Given the description of an element on the screen output the (x, y) to click on. 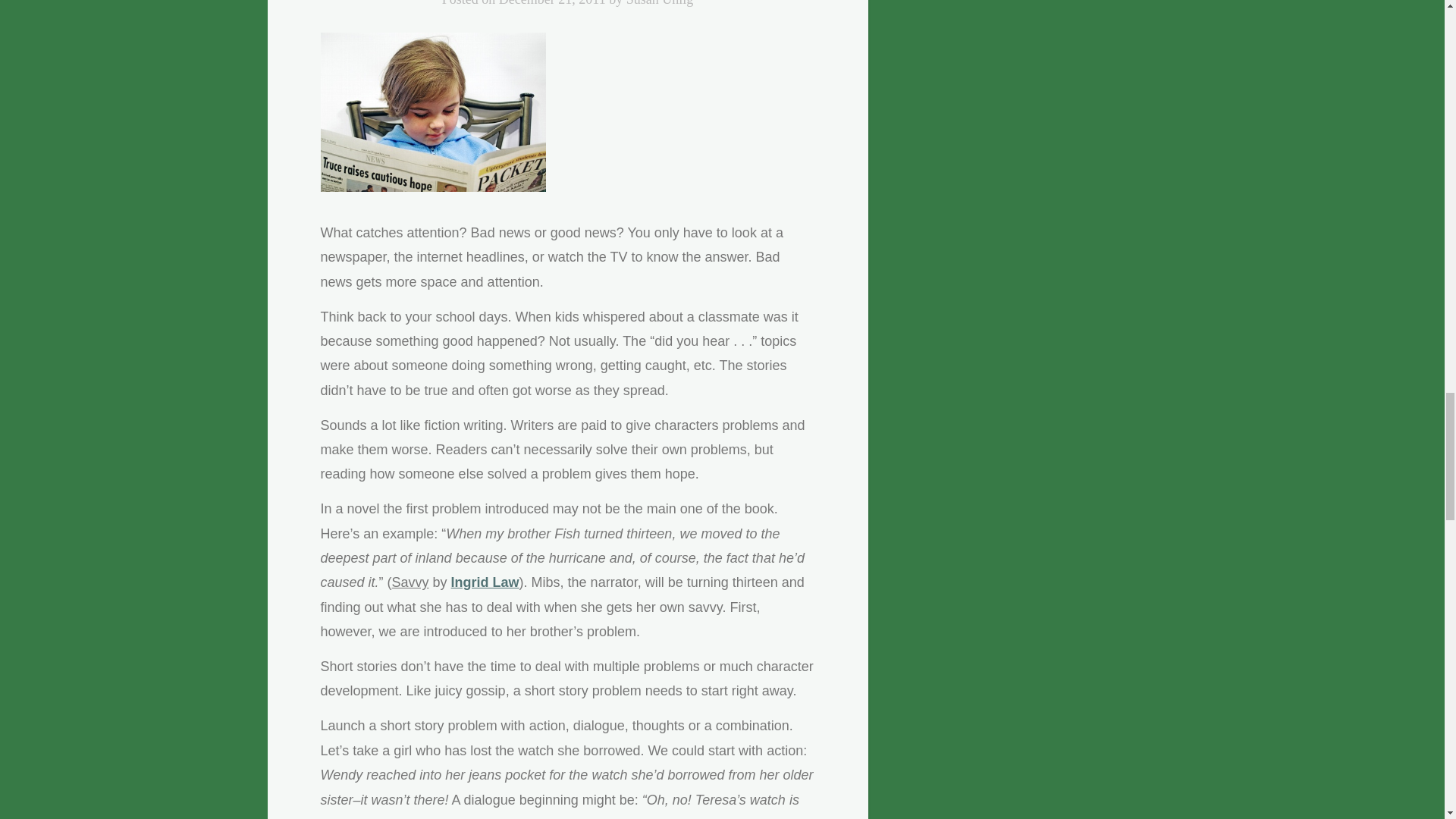
Ingrid Law (485, 581)
Susan Uhlig (660, 3)
December 21, 2011 (552, 3)
